Given the description of an element on the screen output the (x, y) to click on. 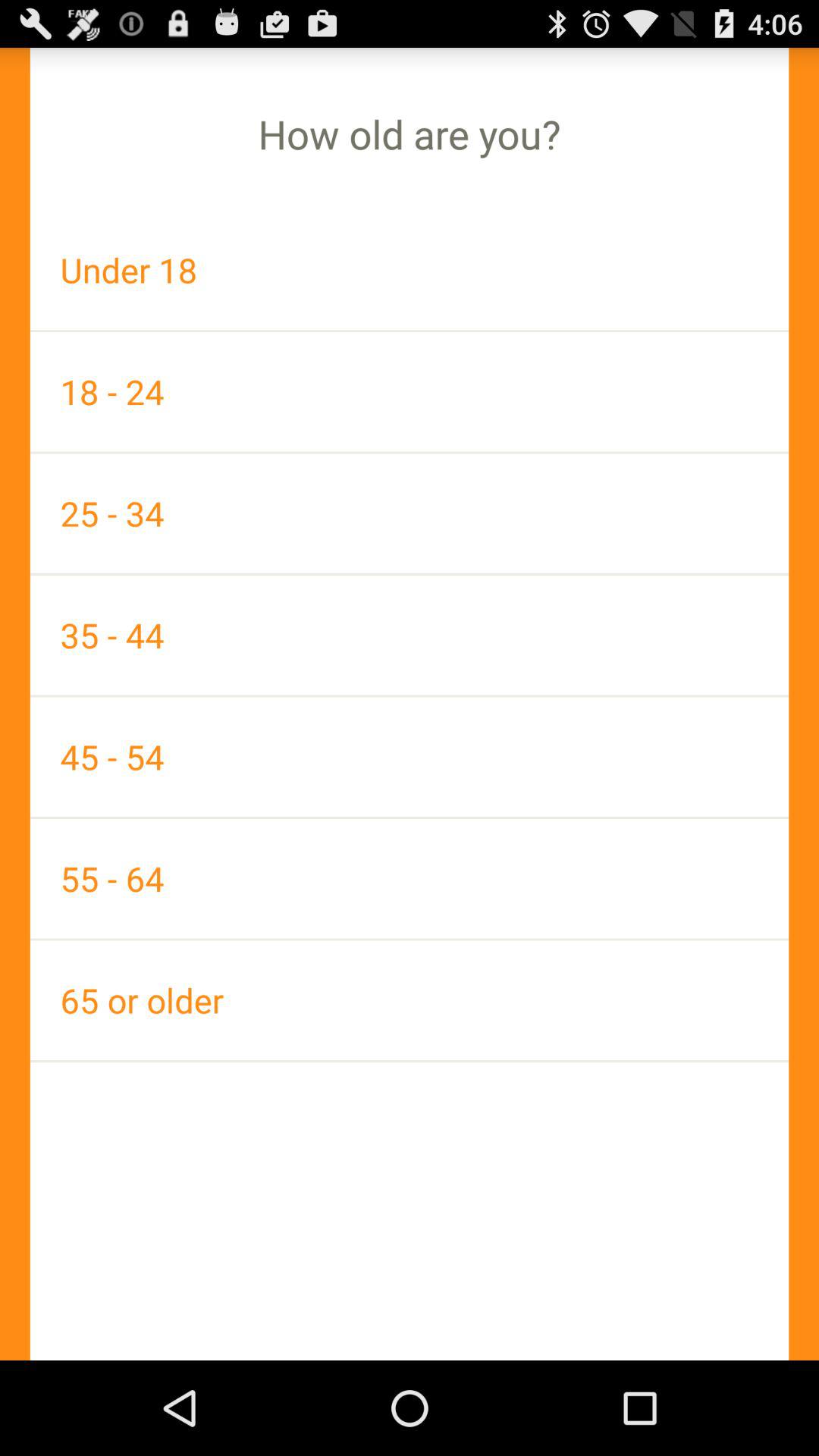
select the item below 18 - 24 app (409, 513)
